Given the description of an element on the screen output the (x, y) to click on. 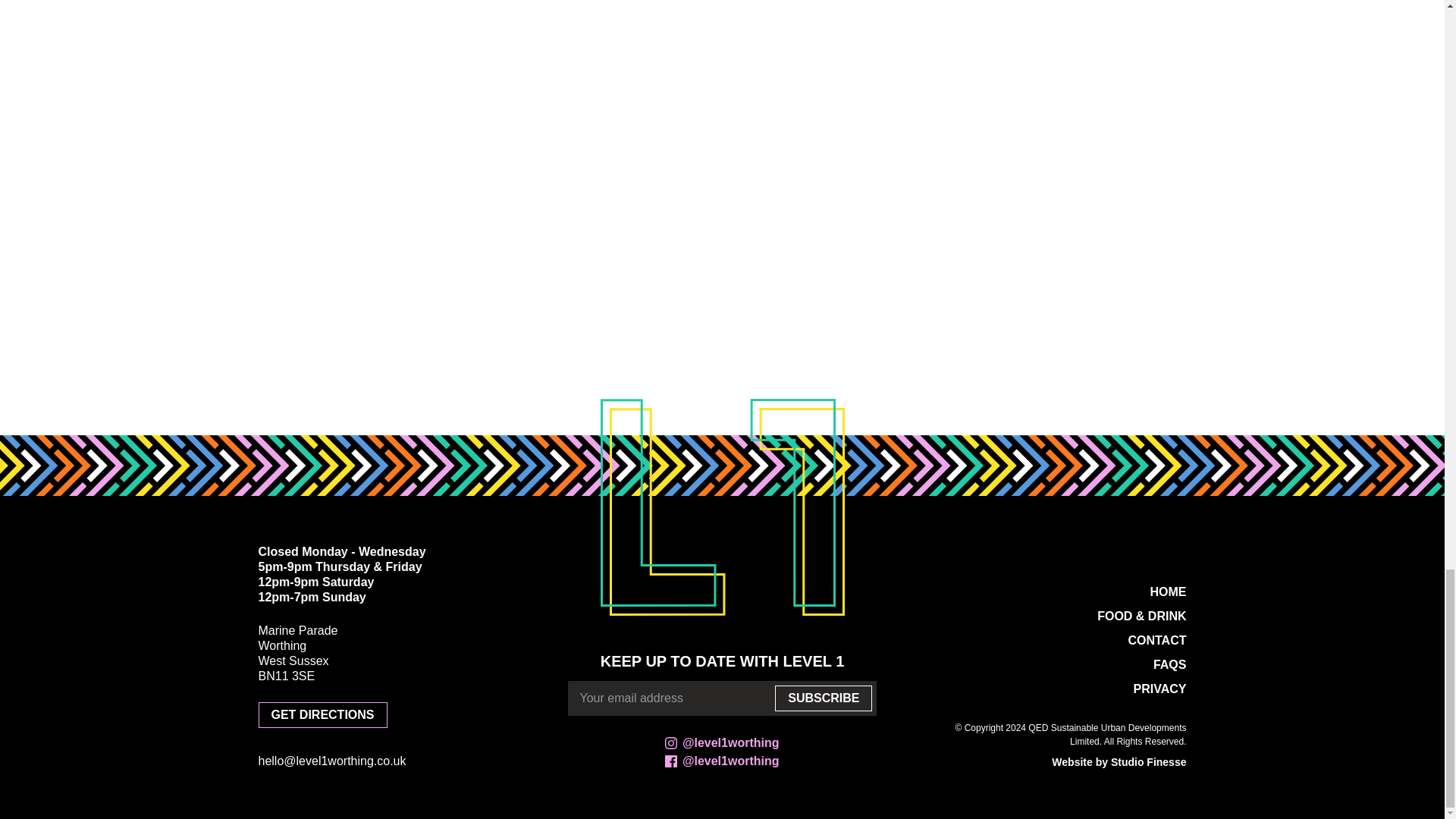
Find us on Facebook (721, 761)
HOME (1168, 591)
FAQS (1169, 664)
Find us on Instagram (721, 742)
CONTACT (1156, 640)
GET DIRECTIONS (322, 714)
PRIVACY (1160, 688)
Website by Studio Finesse (1118, 761)
Subscribe (823, 698)
Subscribe (823, 698)
